Given the description of an element on the screen output the (x, y) to click on. 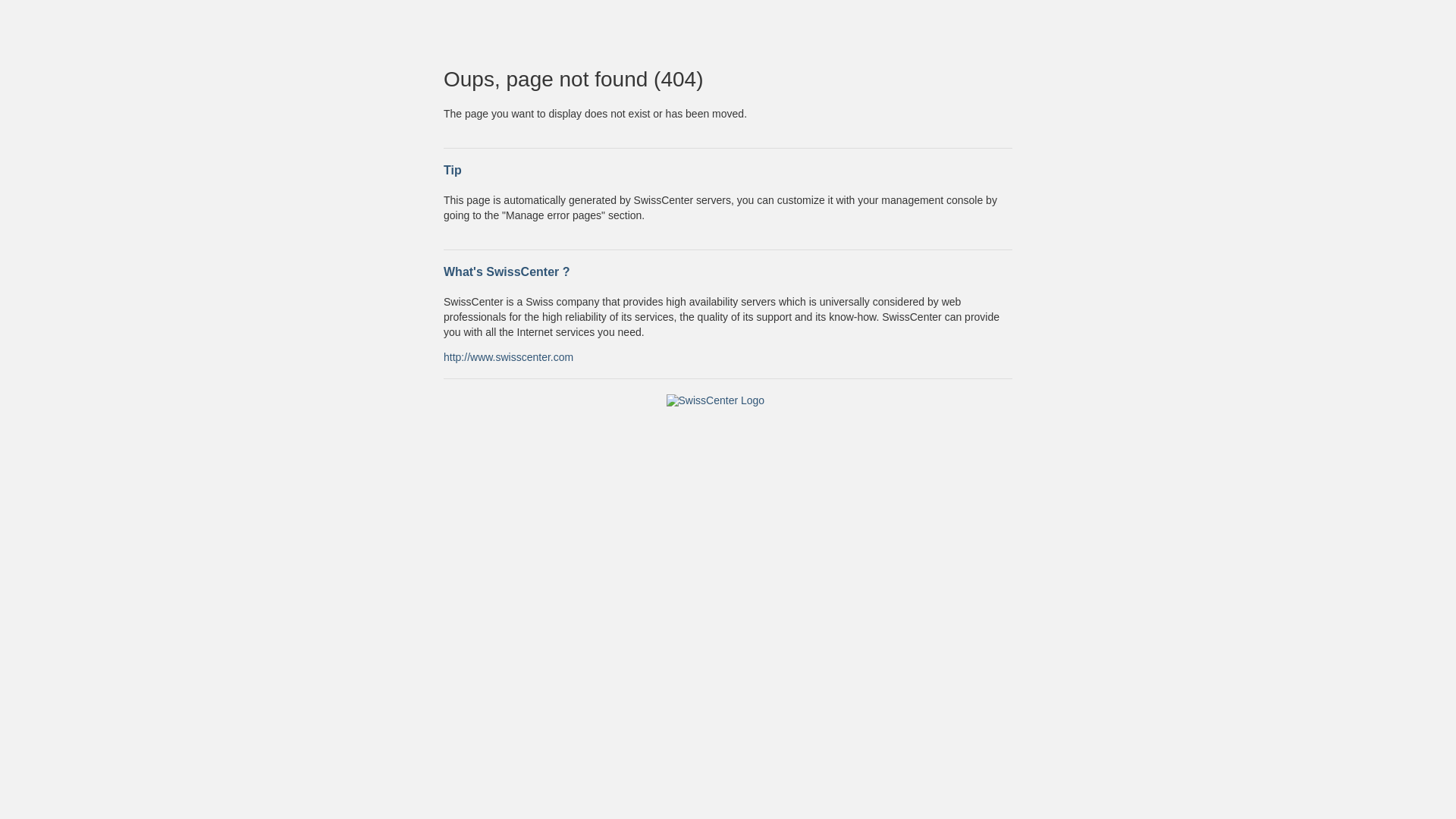
http://www.swisscenter.com Element type: text (508, 356)
